Given the description of an element on the screen output the (x, y) to click on. 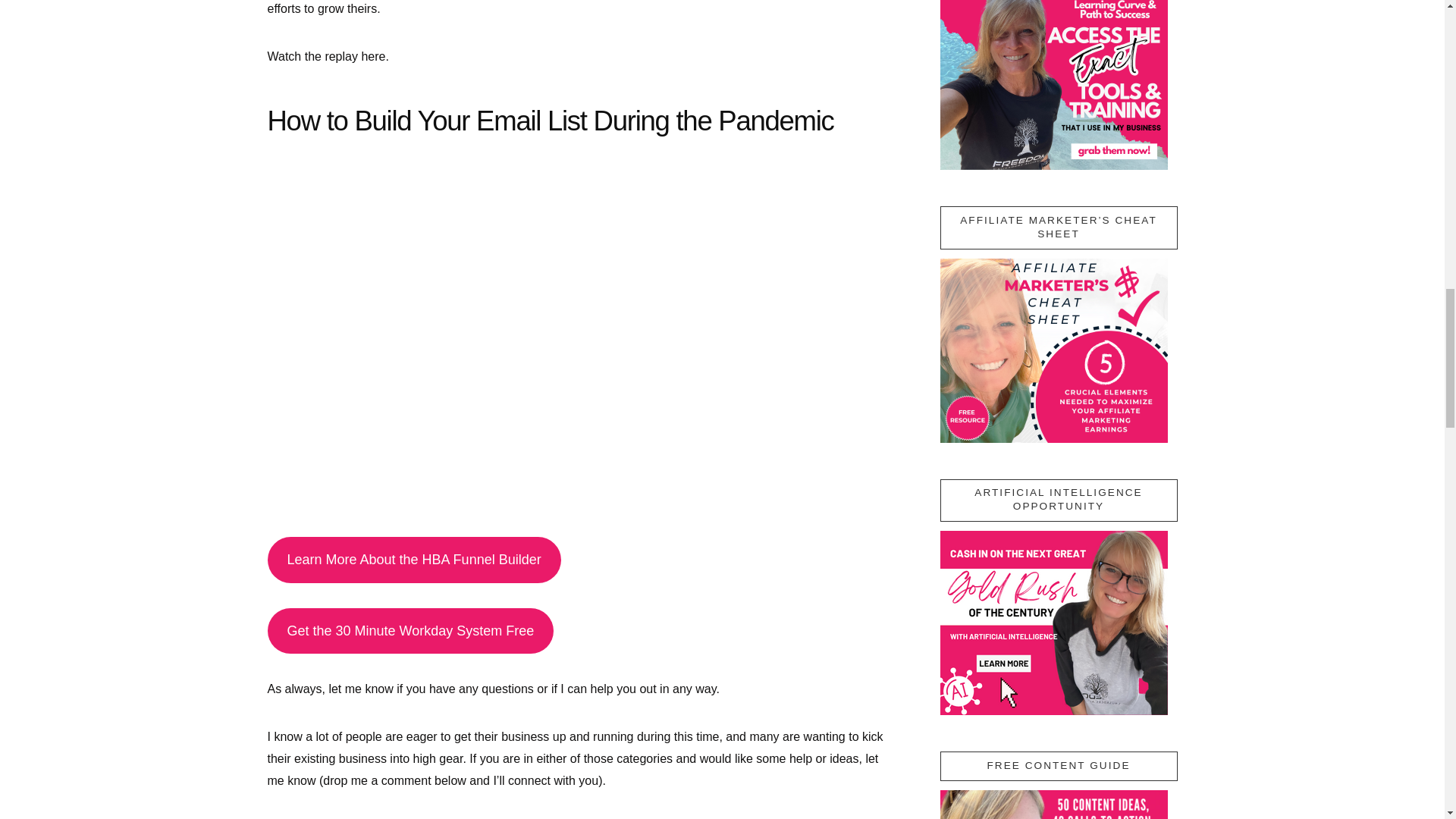
Get the 30 Minute Workday System Free (409, 630)
ARTIFICIAL INTELLIGENCE OPPORTUNITY (1053, 622)
Learn More About the HBA Funnel Builder (413, 559)
FREE CONTENT GUIDE (1053, 804)
